Given the description of an element on the screen output the (x, y) to click on. 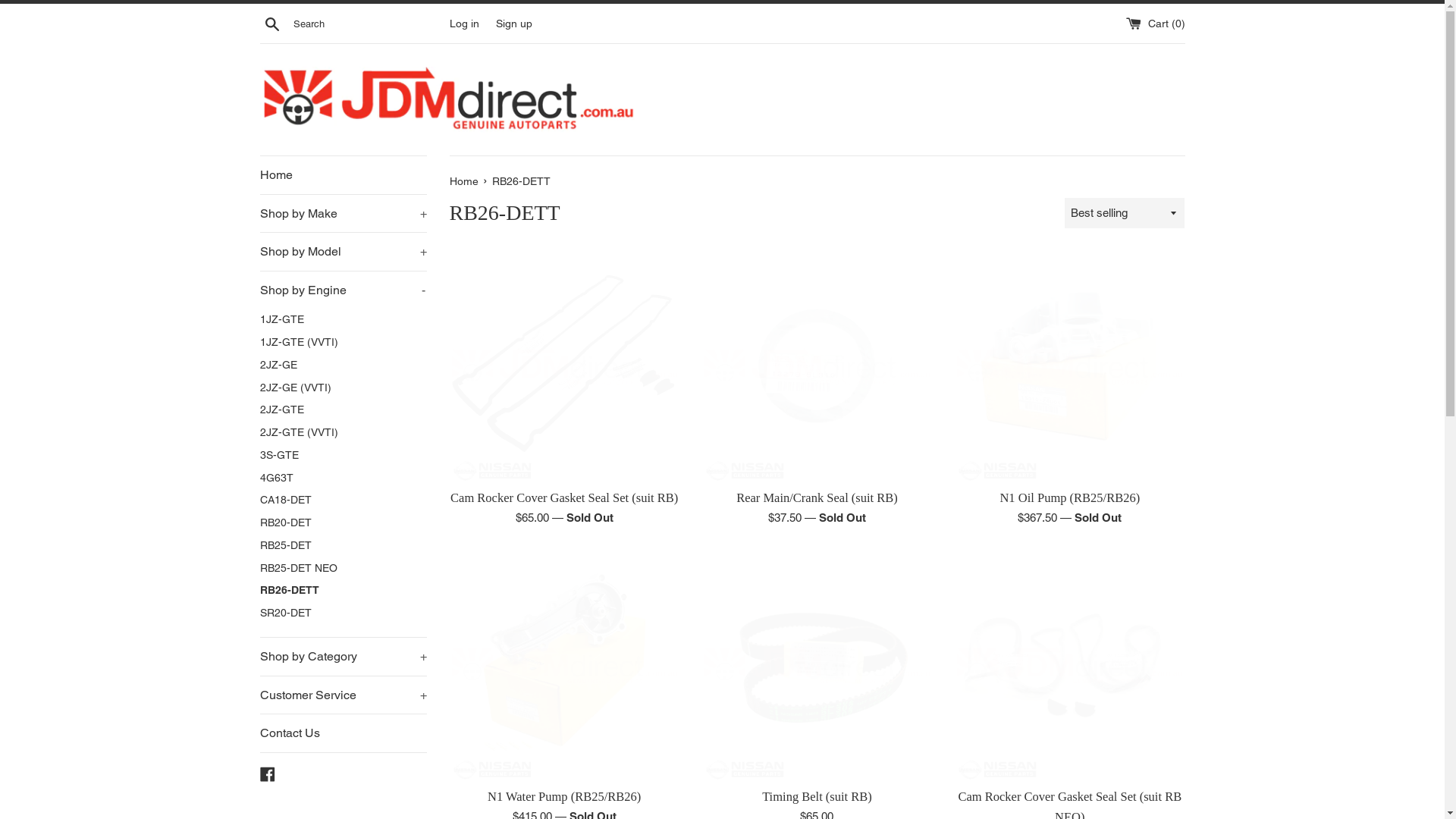
CA18-DET Element type: text (342, 500)
RB25-DET Element type: text (342, 545)
Cam Rocker Cover Gasket Seal Set (suit RB NEO) Element type: hover (1069, 664)
Rear Main/Crank Seal (suit RB) Element type: text (816, 497)
RB25-DET NEO Element type: text (342, 568)
N1 Oil Pump (RB25/RB26) Element type: hover (1069, 365)
Cam Rocker Cover Gasket Seal Set (suit RB) Element type: hover (563, 365)
Search Element type: text (271, 23)
2JZ-GTE (VVTI) Element type: text (342, 432)
Home Element type: text (464, 181)
Shop by Category
+ Element type: text (342, 656)
RB20-DET Element type: text (342, 522)
Rear Main/Crank Seal (suit RB) Element type: hover (816, 365)
SR20-DET Element type: text (342, 613)
Facebook Element type: text (266, 772)
Cam Rocker Cover Gasket Seal Set (suit RB) Element type: text (563, 497)
RB26-DETT Element type: text (342, 590)
Cart (0) Element type: text (1154, 22)
N1 Oil Pump (RB25/RB26) Element type: text (1069, 497)
Customer Service
+ Element type: text (342, 695)
Home Element type: text (342, 175)
Timing Belt (suit RB) Element type: hover (816, 664)
N1 Water Pump (RB25/RB26) Element type: hover (563, 664)
2JZ-GE (VVTI) Element type: text (342, 387)
Shop by Model
+ Element type: text (342, 251)
3S-GTE Element type: text (342, 455)
1JZ-GTE (VVTI) Element type: text (342, 342)
1JZ-GTE Element type: text (342, 319)
Timing Belt (suit RB) Element type: text (817, 796)
2JZ-GTE Element type: text (342, 409)
N1 Water Pump (RB25/RB26) Element type: text (563, 796)
Shop by Engine
- Element type: text (342, 290)
Sign up Element type: text (513, 22)
Log in Element type: text (463, 22)
Contact Us Element type: text (342, 733)
2JZ-GE Element type: text (342, 365)
Shop by Make
+ Element type: text (342, 213)
4G63T Element type: text (342, 478)
